Given the description of an element on the screen output the (x, y) to click on. 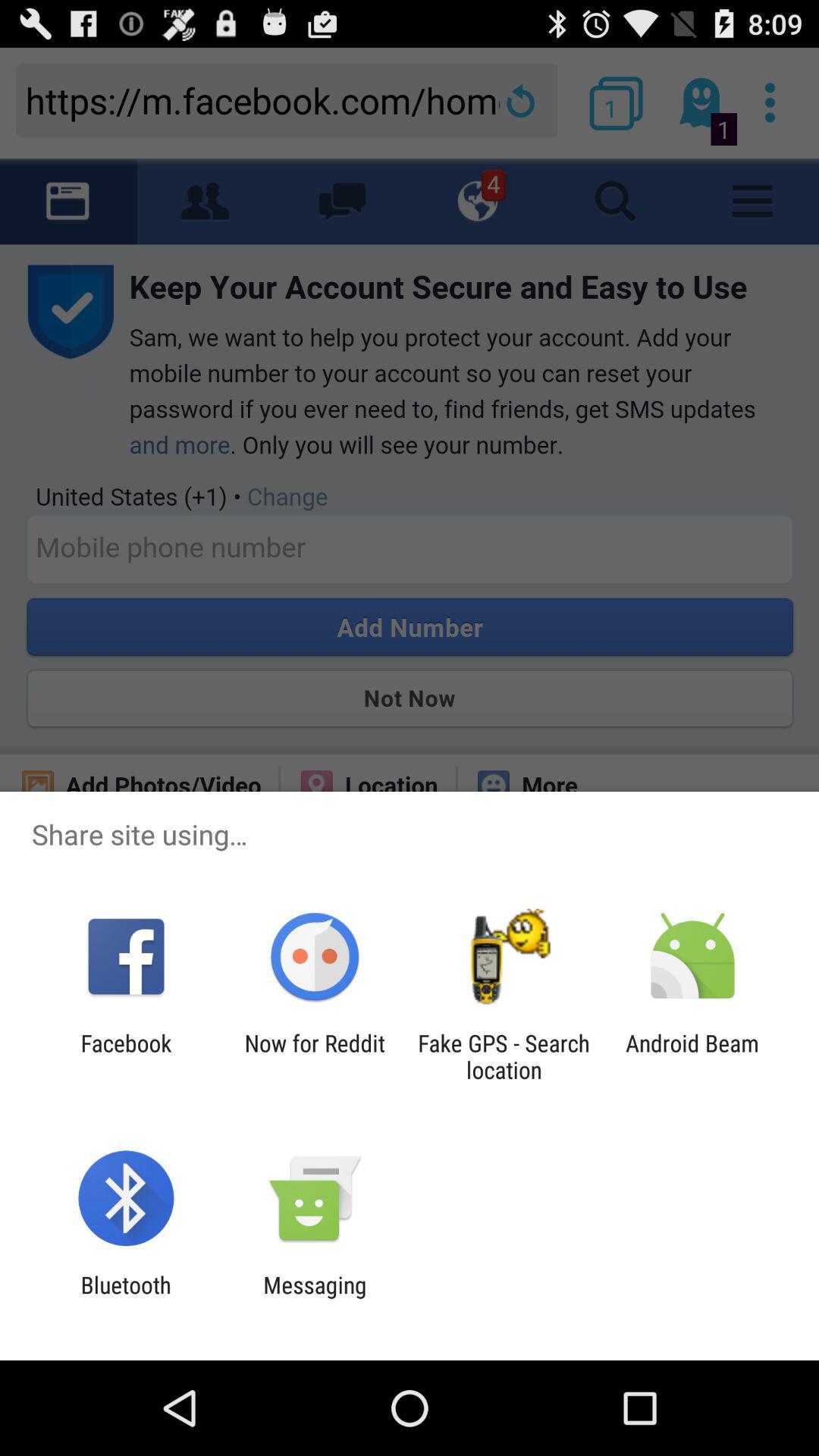
jump until the messaging app (314, 1298)
